Given the description of an element on the screen output the (x, y) to click on. 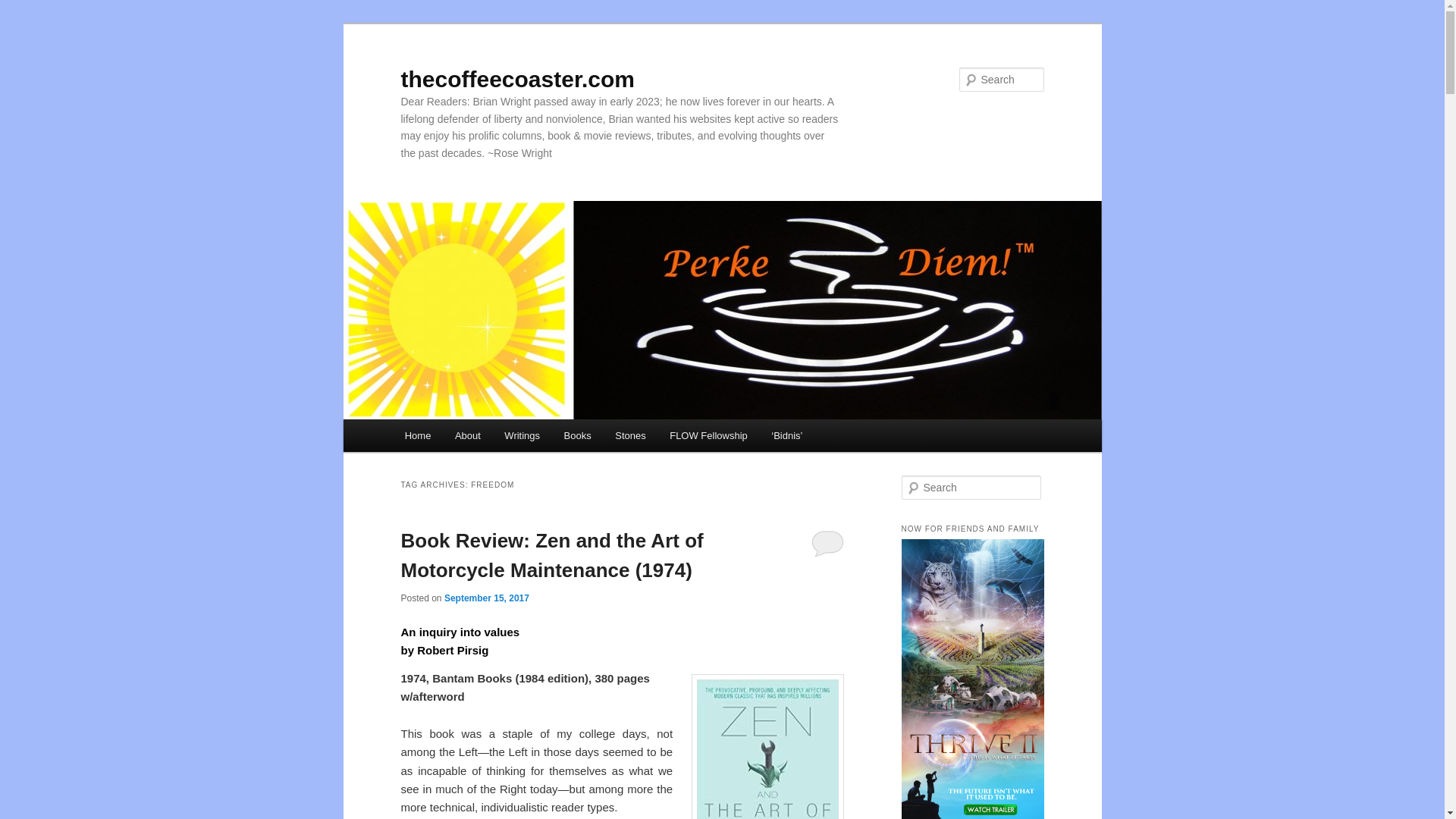
thecoffeecoaster.com (516, 78)
FLOW Fellowship (708, 435)
Search (24, 8)
Books (577, 435)
21:34 (486, 597)
Stones (630, 435)
September 15, 2017 (486, 597)
Home (417, 435)
Writings (522, 435)
About (467, 435)
